Given the description of an element on the screen output the (x, y) to click on. 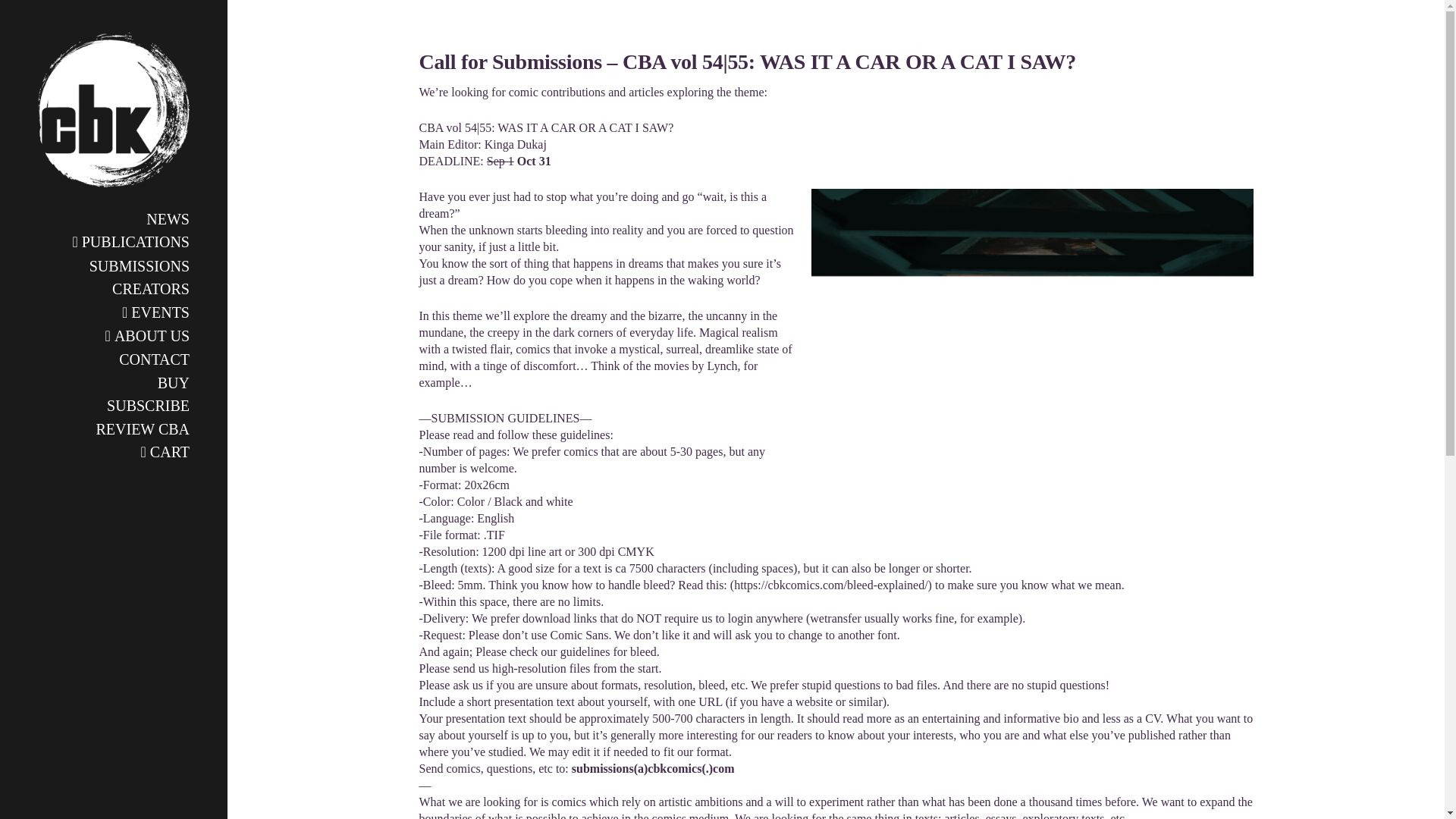
SUBMISSIONS (113, 264)
NEWS (113, 218)
BUY (113, 381)
CONTACT (113, 358)
REVIEW CBA (113, 427)
PUBLICATIONS (113, 241)
ABOUT US (113, 335)
CART (113, 451)
EVENTS (113, 310)
CREATORS (113, 287)
